Given the description of an element on the screen output the (x, y) to click on. 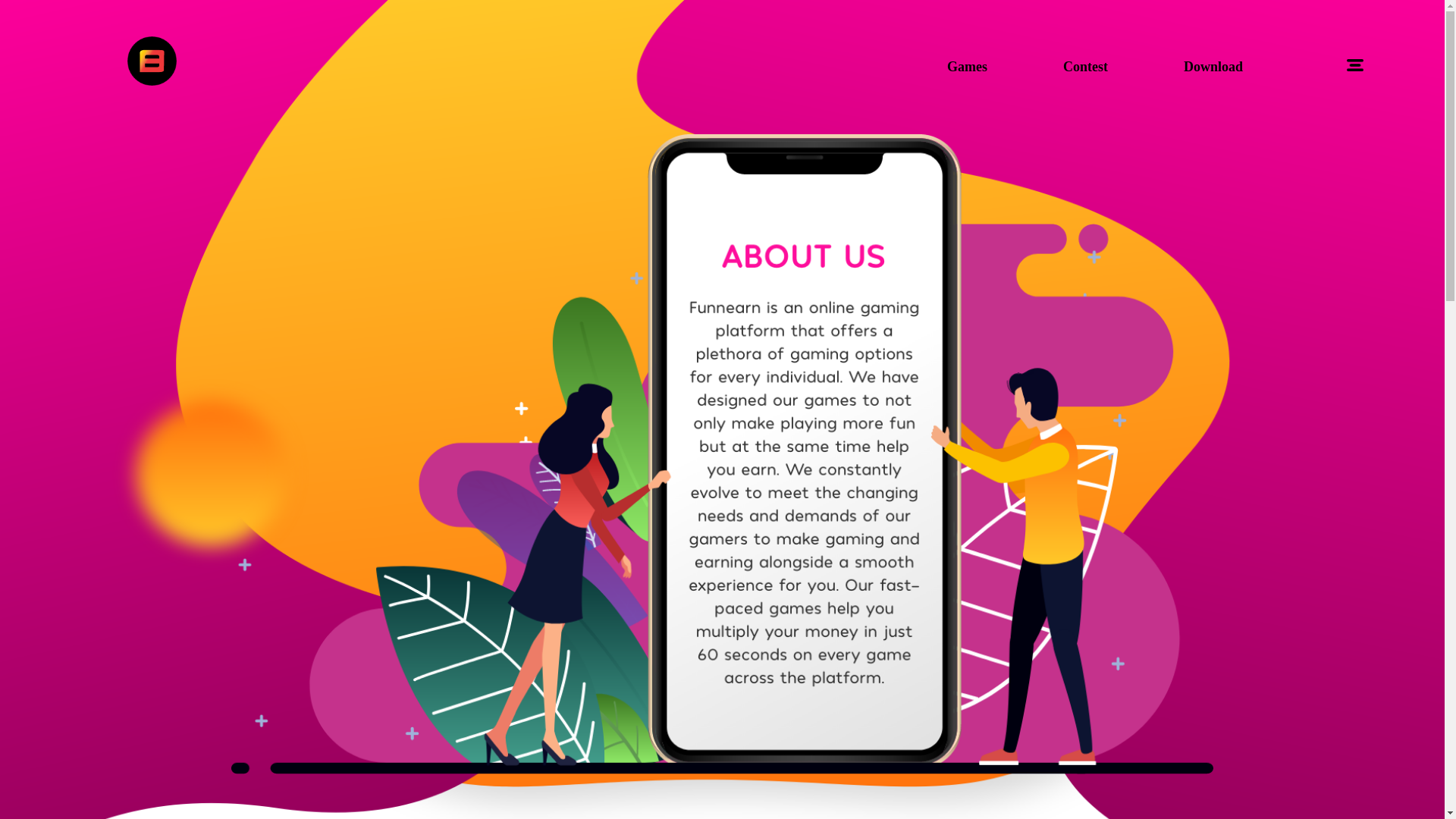
Download (1212, 67)
Contest (1085, 67)
Games (967, 67)
